Given the description of an element on the screen output the (x, y) to click on. 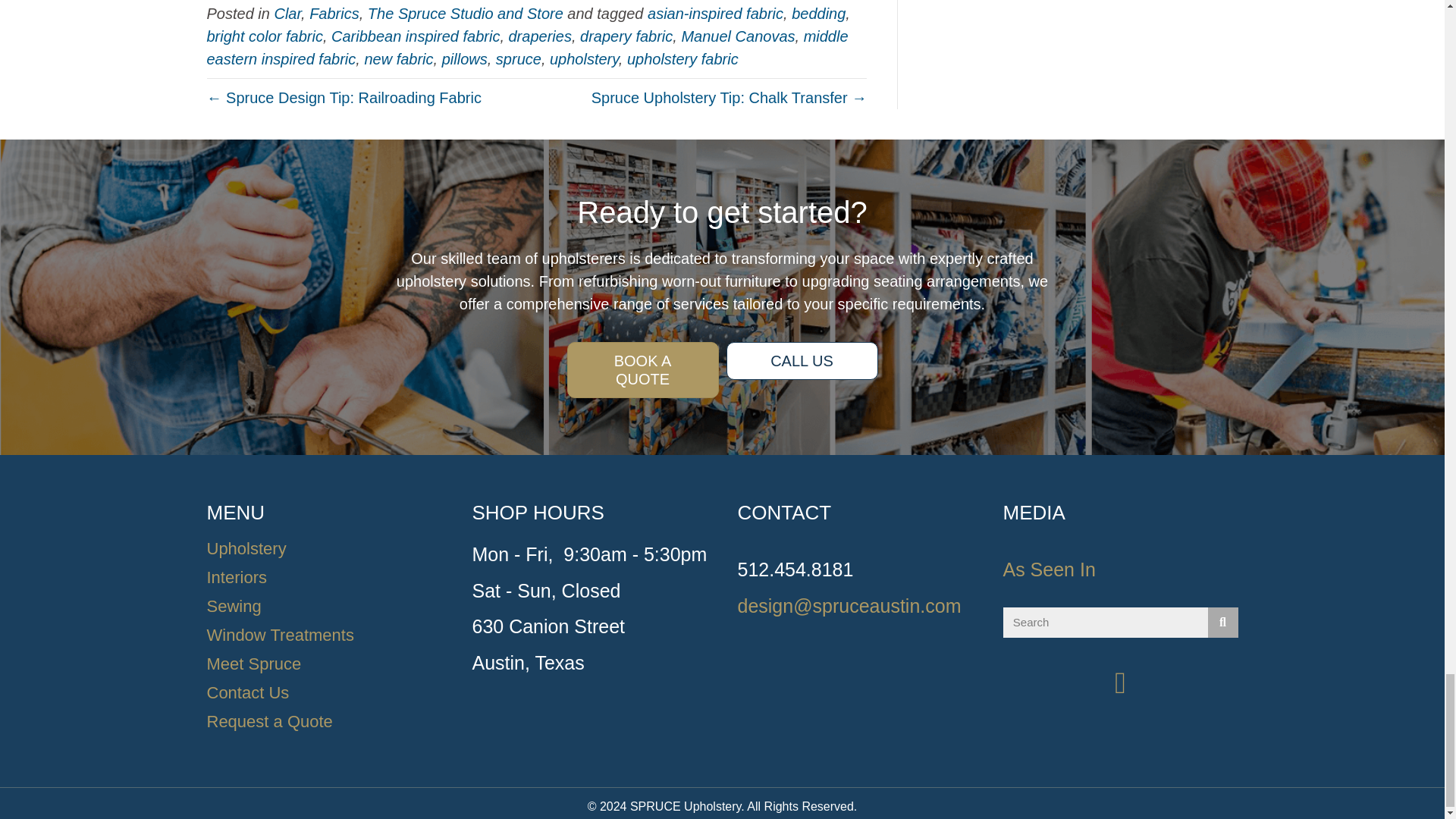
Search (1105, 622)
Instagram (1120, 683)
